Given the description of an element on the screen output the (x, y) to click on. 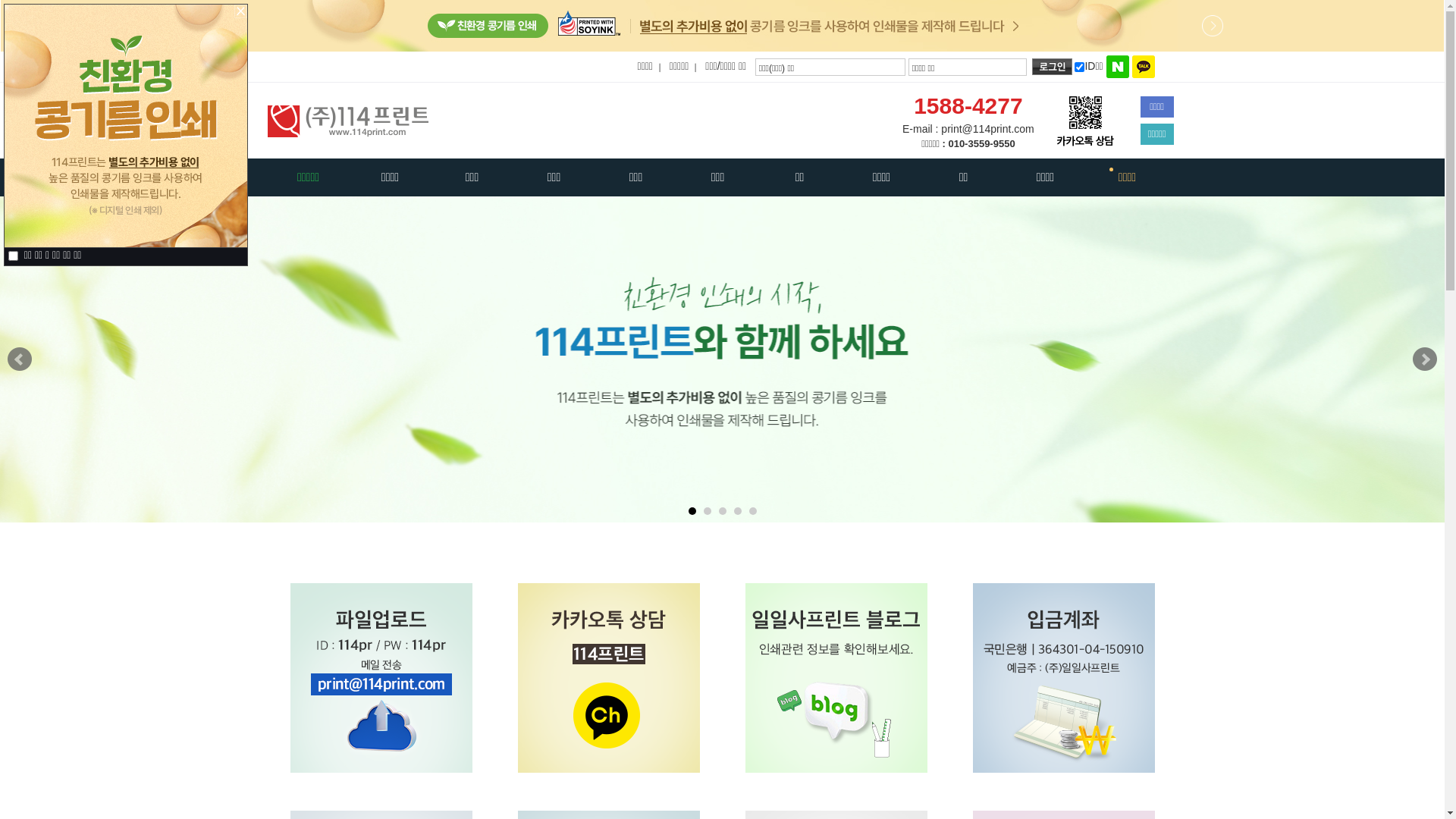
2 Element type: text (707, 510)
Next Element type: text (1424, 359)
1 Element type: text (692, 510)
Prev Element type: text (19, 359)
3 Element type: text (722, 510)
5 Element type: text (752, 510)
4 Element type: text (737, 510)
